Given the description of an element on the screen output the (x, y) to click on. 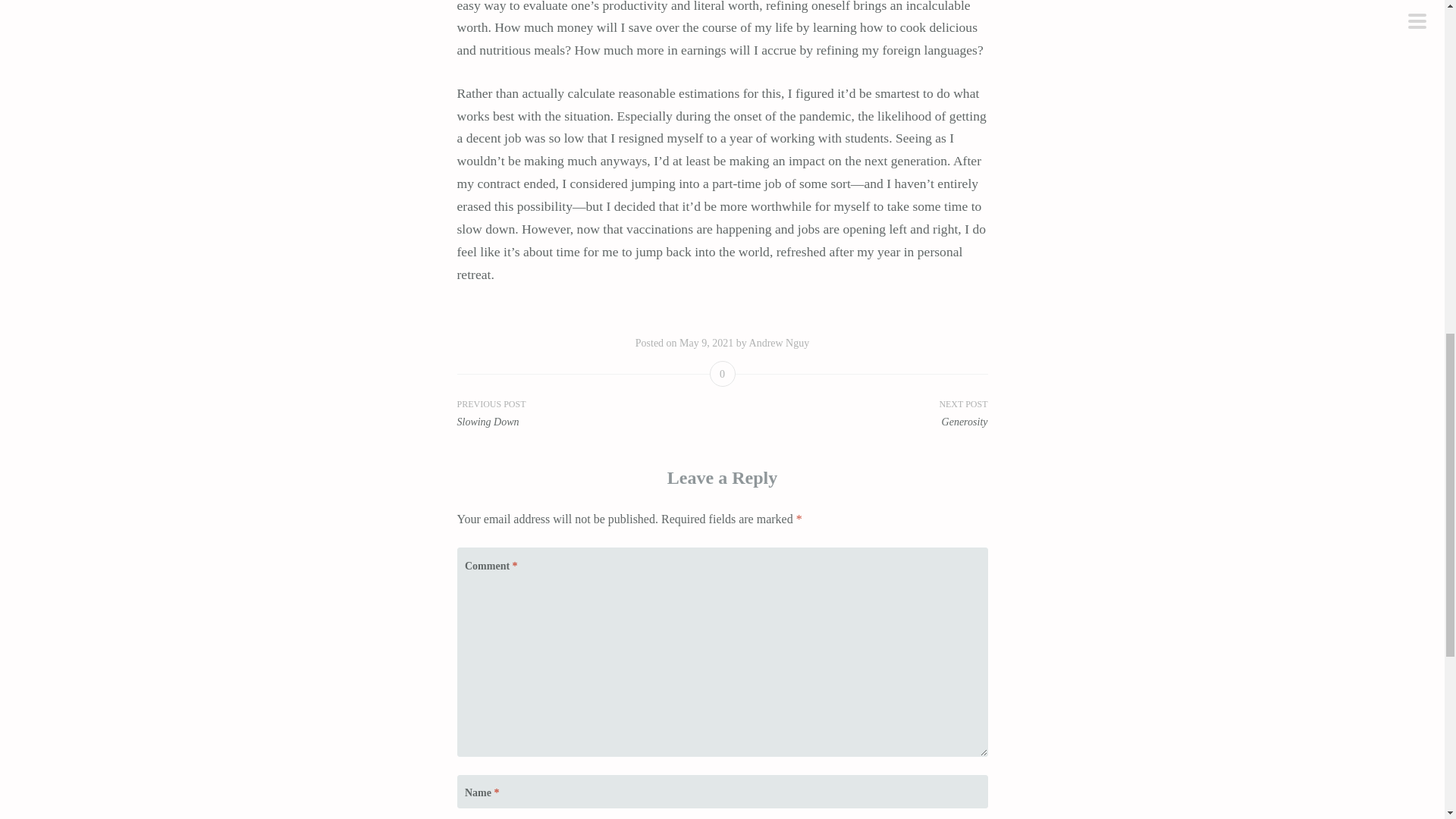
NEXT POSTGenerosity (854, 412)
Andrew Nguy (779, 342)
PREVIOUS POSTSlowing Down (589, 412)
May 9, 2021 (706, 342)
0 (722, 373)
